Given the description of an element on the screen output the (x, y) to click on. 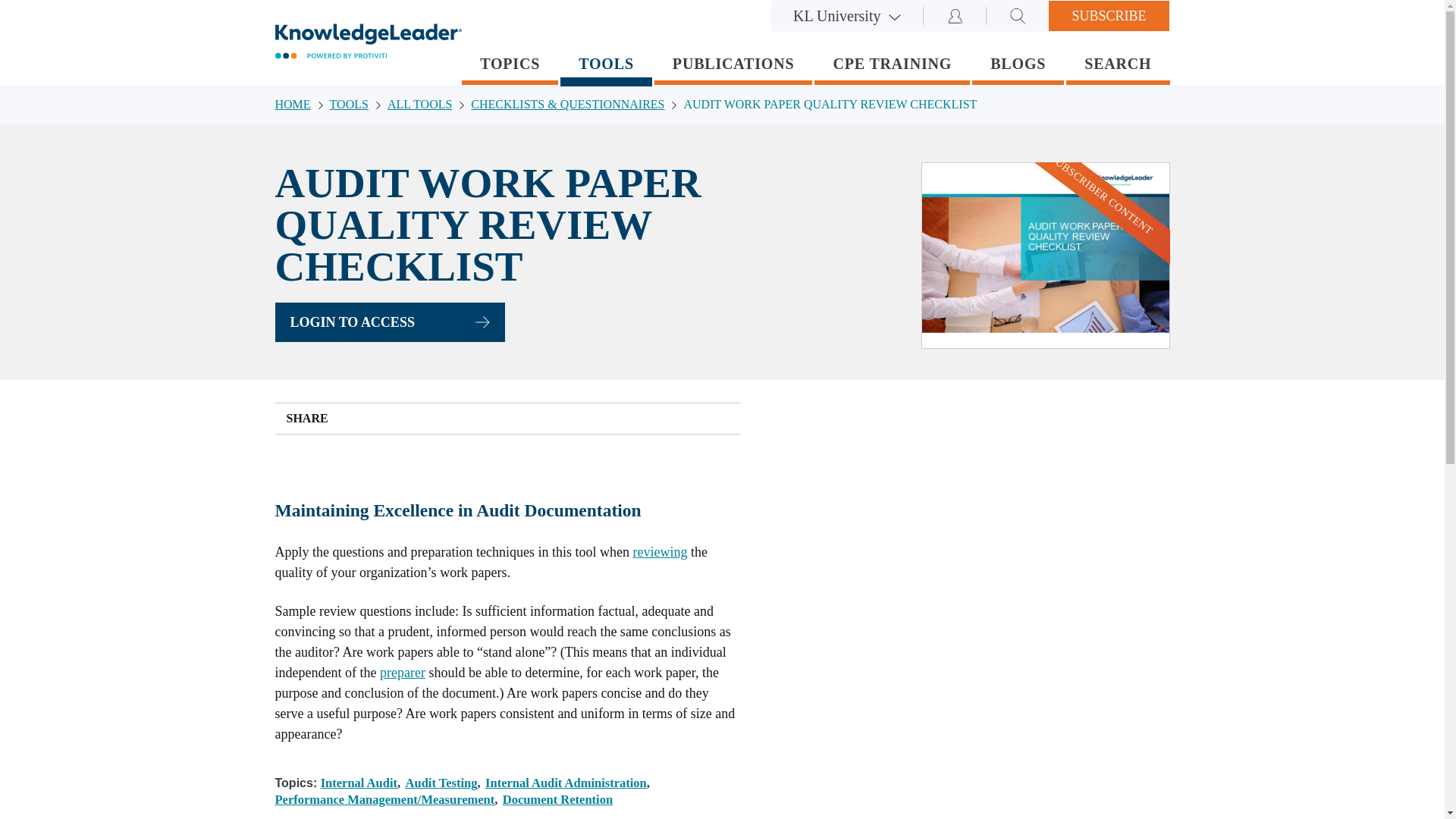
preparer (402, 672)
KL University (847, 15)
TOOLS (358, 104)
Internal Audit Administration (566, 782)
Search Icon (1017, 15)
SEARCH (1117, 65)
ALL TOOLS (428, 104)
TOOLS (606, 66)
TOPICS (509, 65)
Skip to main content (7, 7)
SUBSCRIBE (1108, 15)
HOME (302, 104)
LOGIN TO ACCESS (389, 322)
reviewing (659, 551)
Document Retention (557, 799)
